Given the description of an element on the screen output the (x, y) to click on. 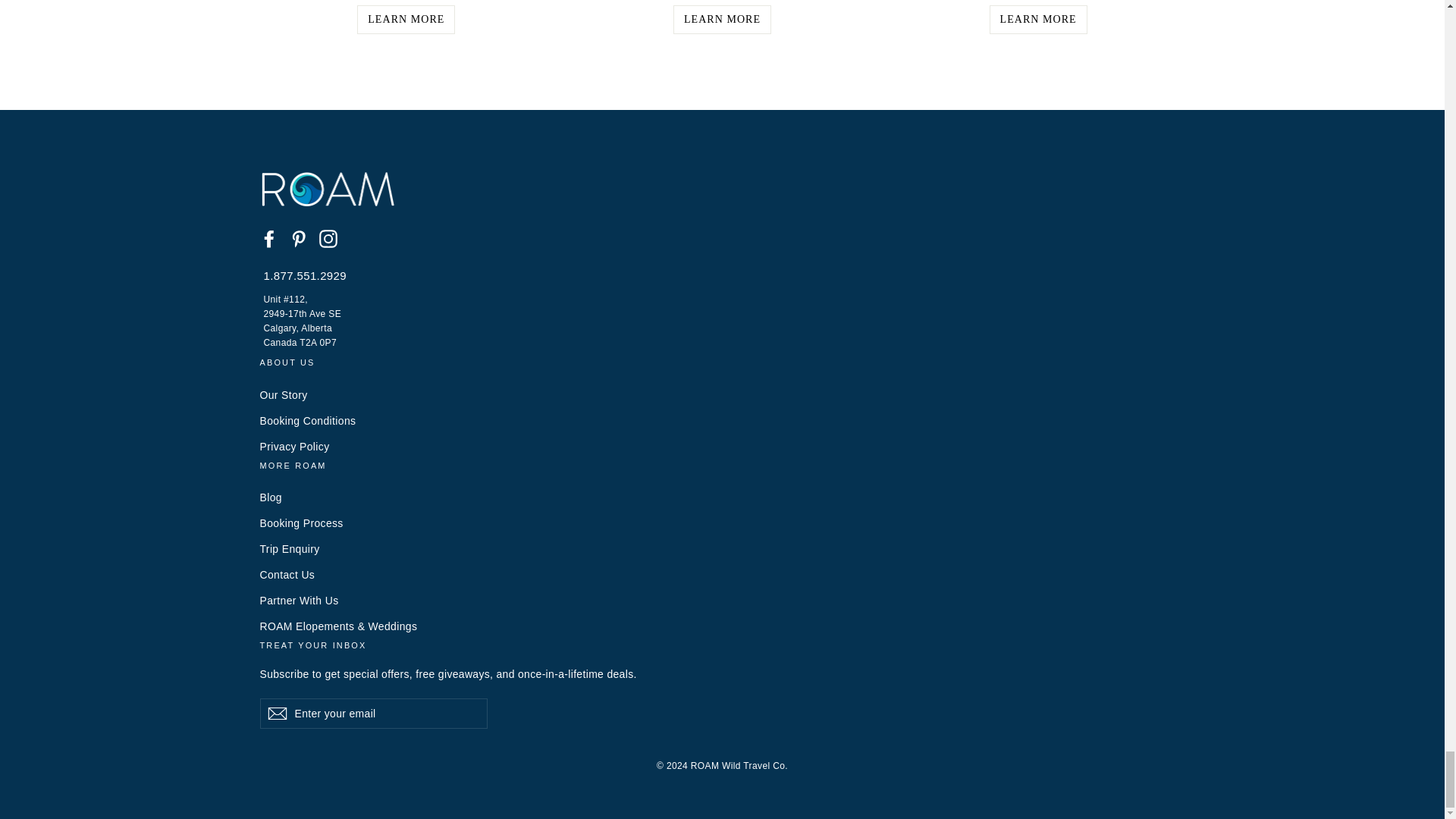
ROAM Wild Travel Co. on Instagram (327, 238)
ROAM Wild Travel Co. on Facebook (268, 238)
ROAM Wild Travel Co. on Pinterest (298, 238)
